Given the description of an element on the screen output the (x, y) to click on. 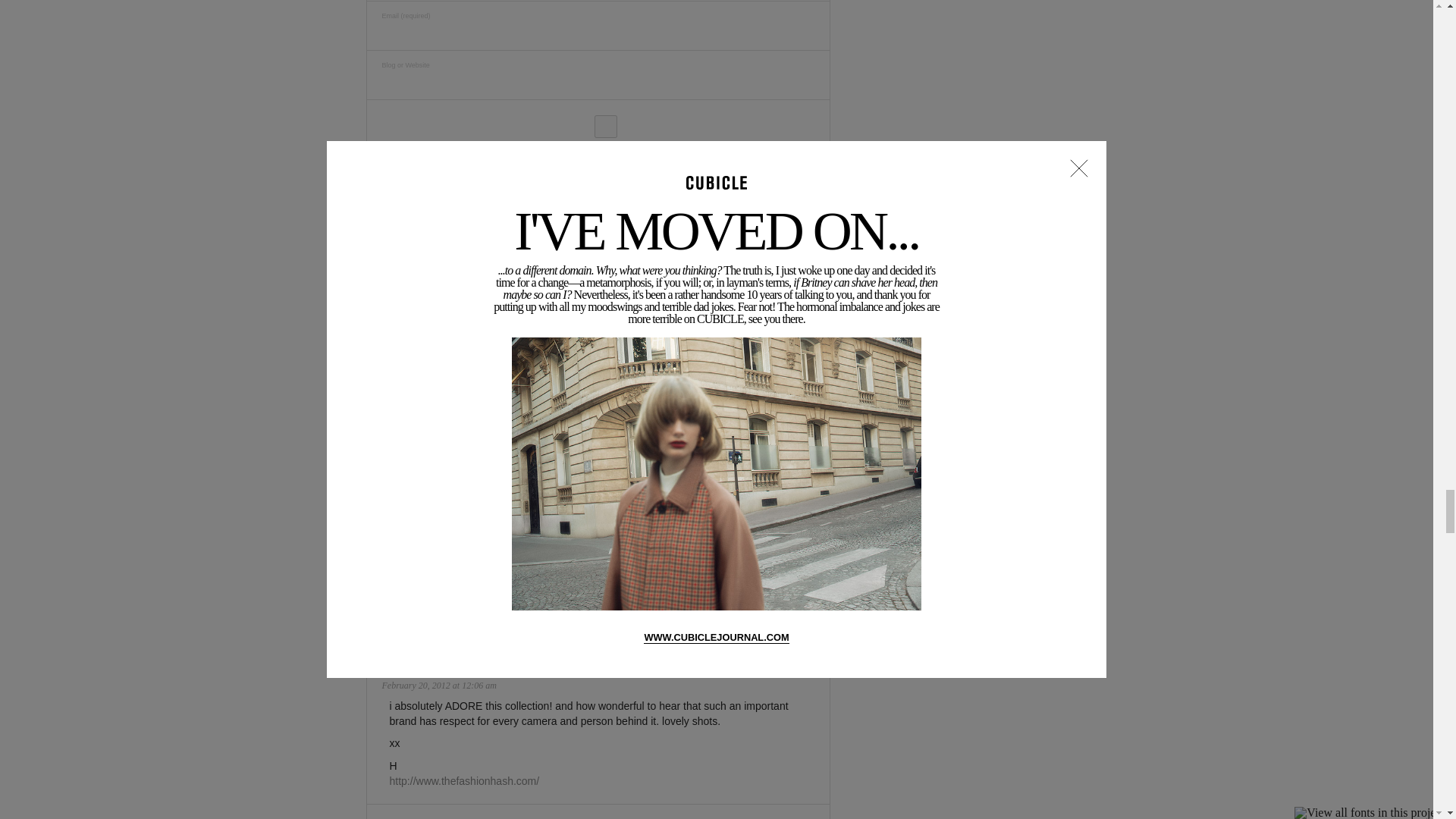
Submit (589, 175)
yes (605, 126)
